Given the description of an element on the screen output the (x, y) to click on. 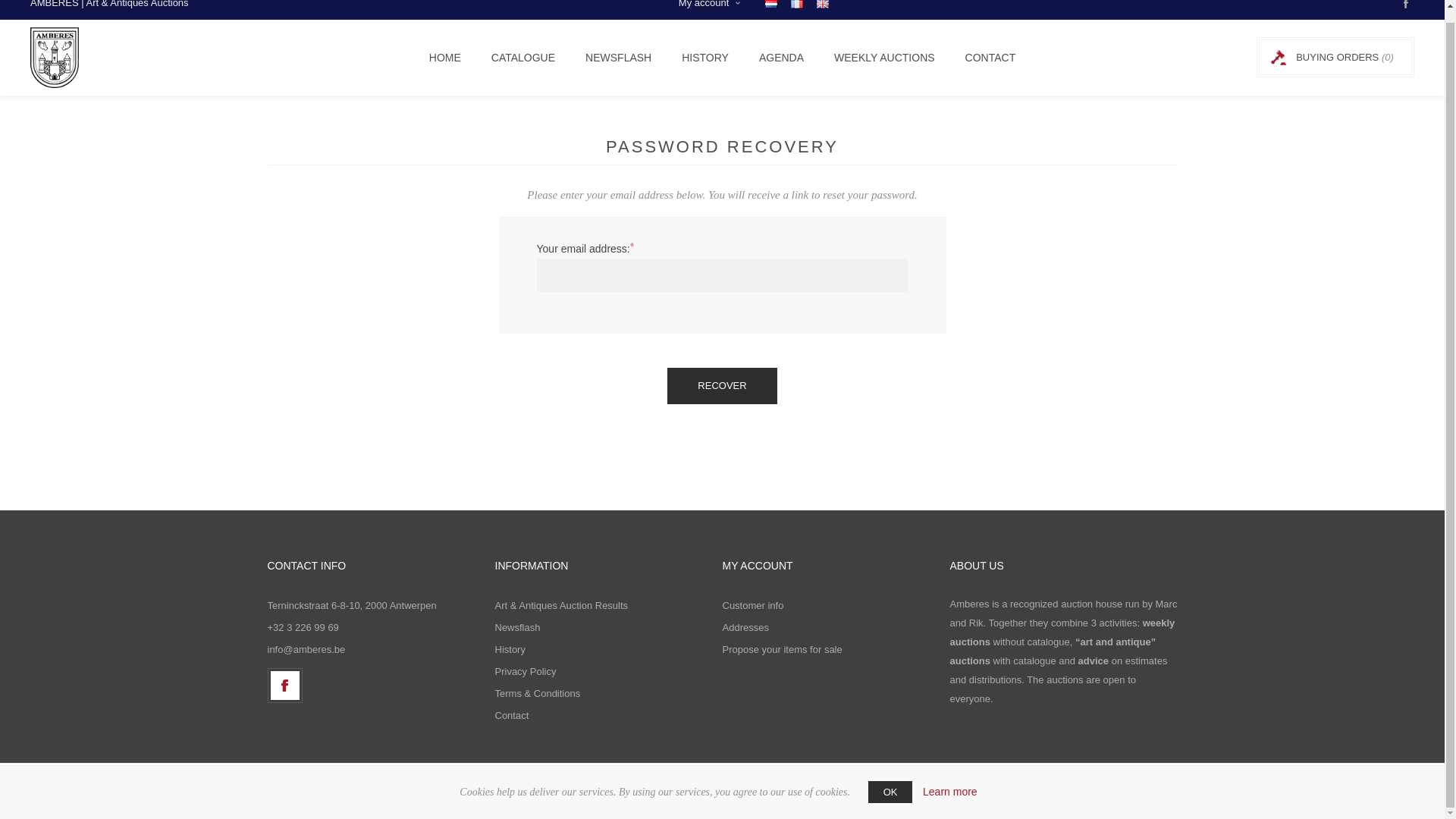
HOME (444, 57)
nopCommerce (884, 797)
Recover (721, 384)
Customer info (752, 605)
Contact (511, 714)
Privacy Policy (525, 670)
History (509, 649)
AGENDA (781, 57)
Learn more (949, 779)
WEEKLY AUCTIONS (884, 57)
